Given the description of an element on the screen output the (x, y) to click on. 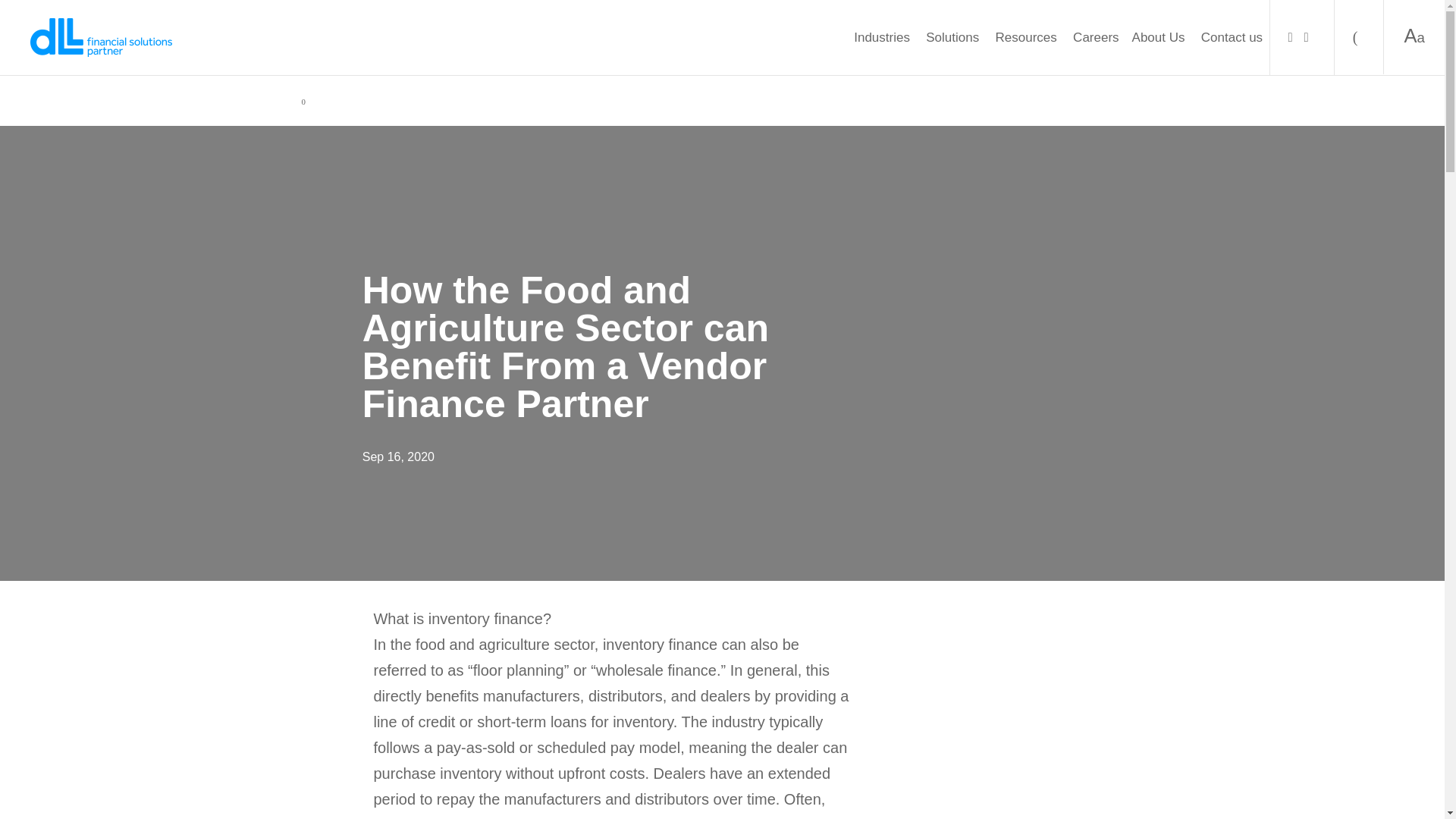
Solutions (954, 37)
Industries (883, 37)
brand-logo (100, 36)
Resources (1027, 37)
